Given the description of an element on the screen output the (x, y) to click on. 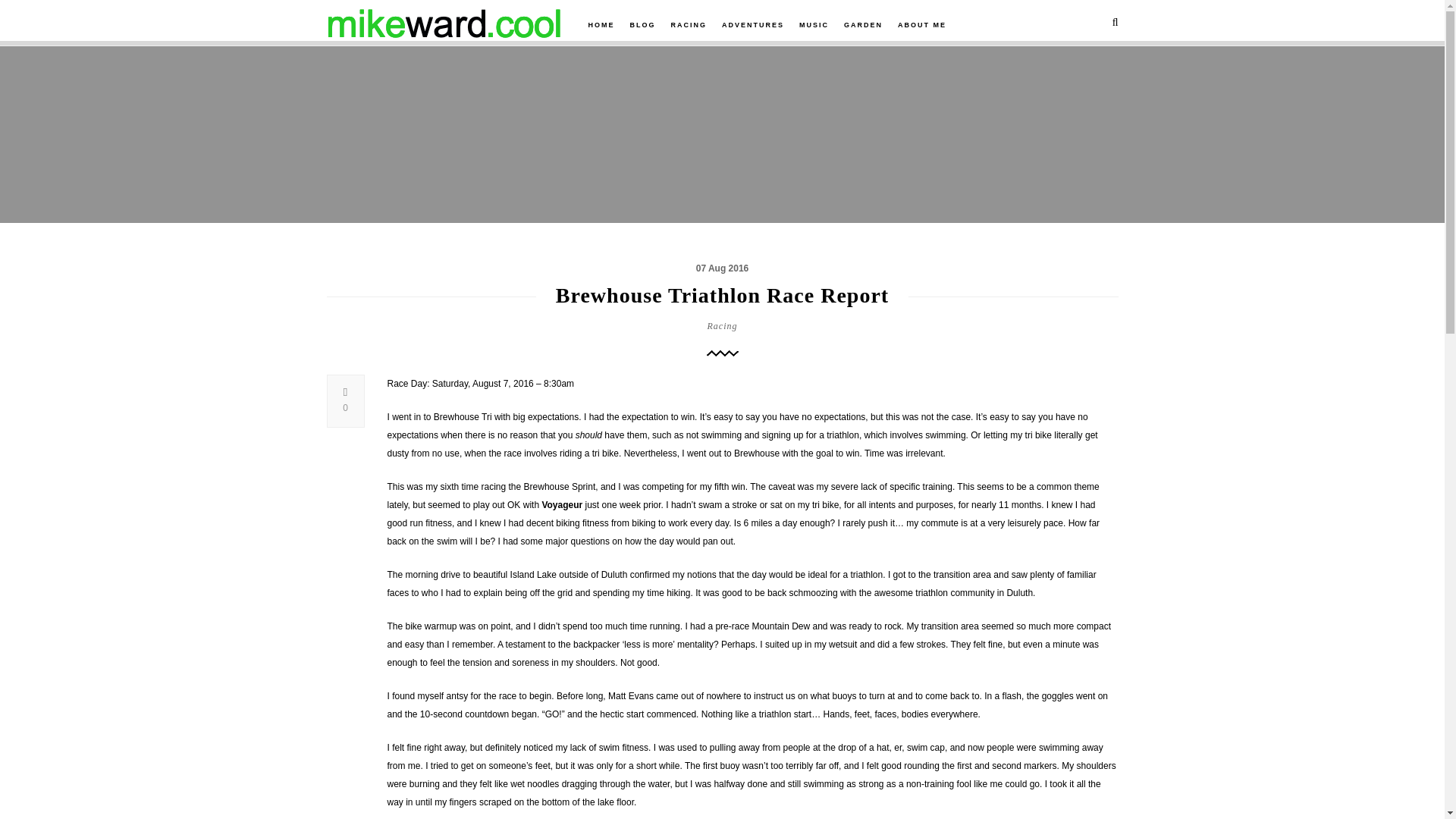
BLOG (642, 24)
GARDEN (863, 24)
RACING (688, 24)
Voyageur (561, 504)
HOME (600, 24)
ABOUT ME (921, 24)
Racing (721, 325)
MUSIC (813, 24)
ADVENTURES (752, 24)
